Given the description of an element on the screen output the (x, y) to click on. 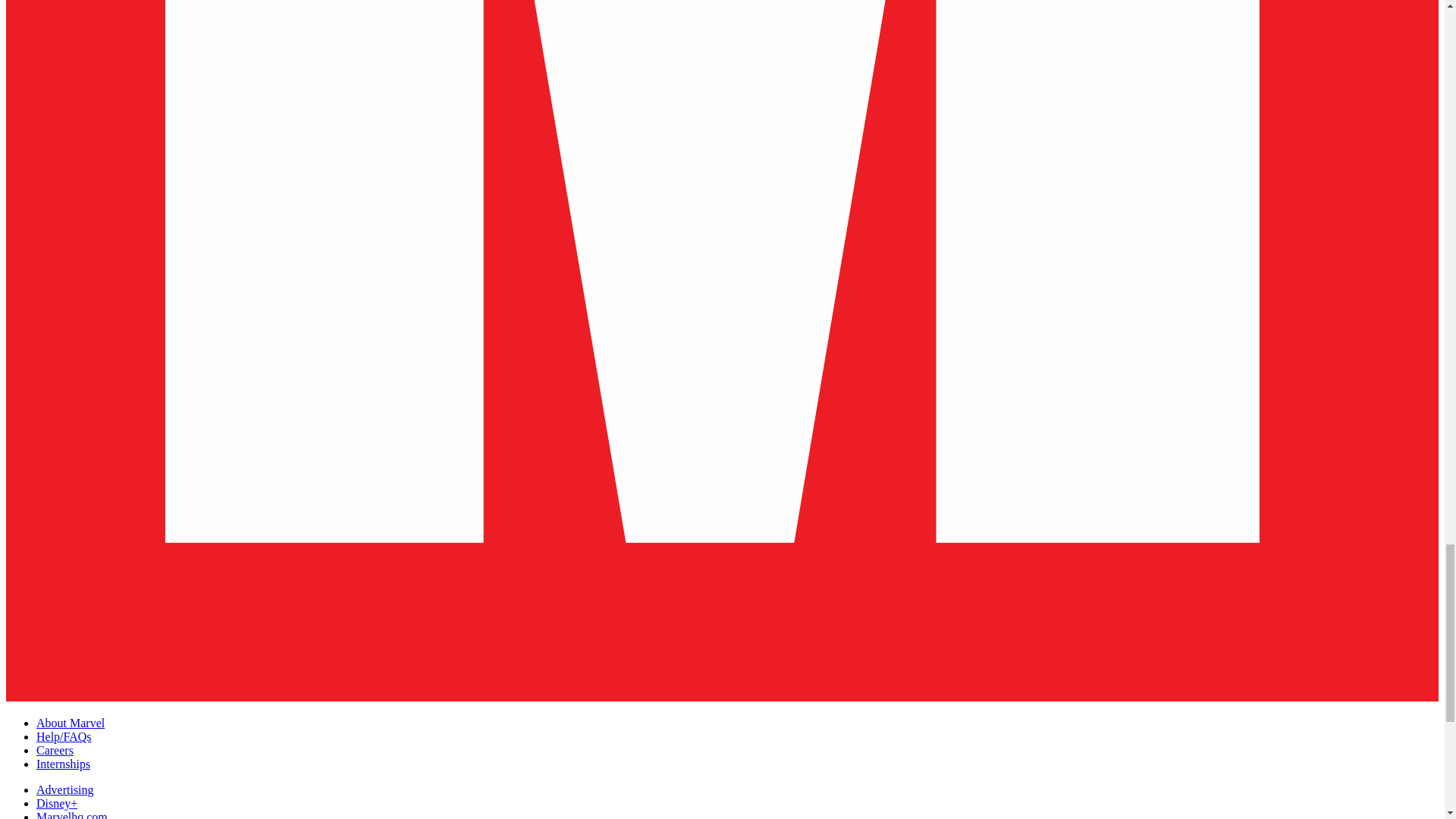
Internships (63, 763)
About Marvel (70, 722)
Advertising (65, 789)
Careers (55, 749)
